Given the description of an element on the screen output the (x, y) to click on. 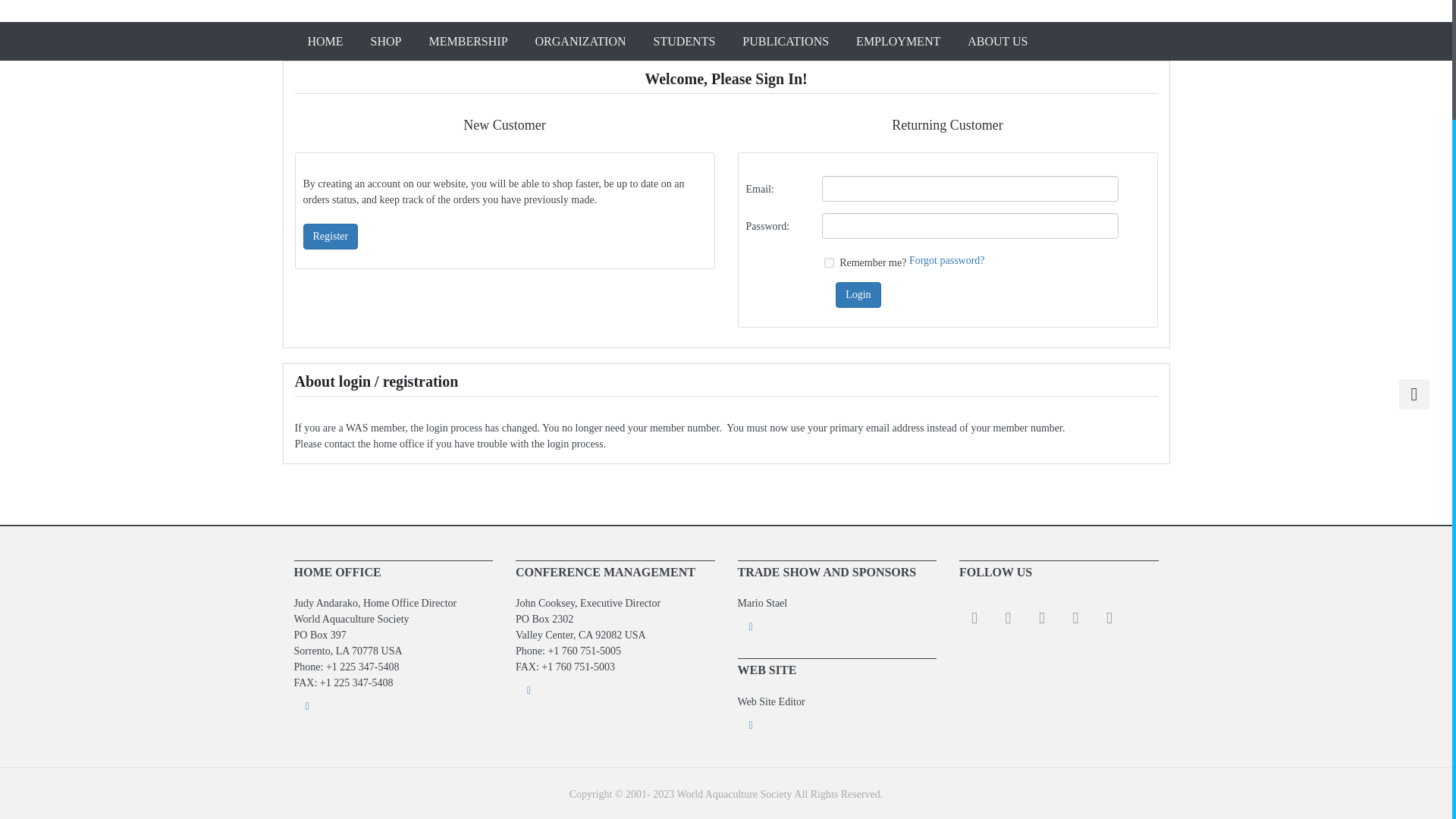
Register (330, 236)
Send feedback (393, 706)
Login (857, 294)
Send feedback (836, 725)
Request (836, 626)
Send feedback (614, 689)
